Given the description of an element on the screen output the (x, y) to click on. 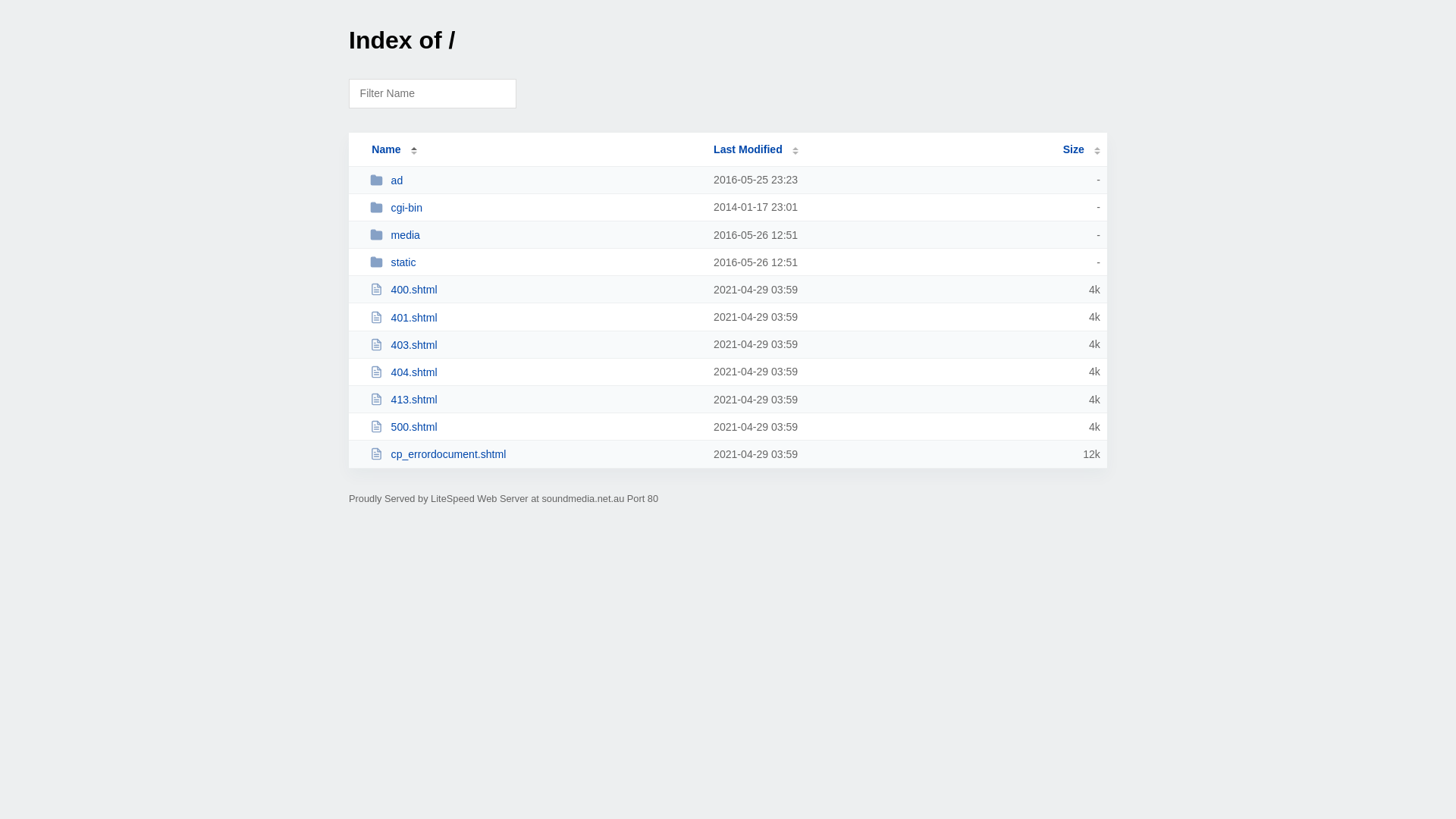
cp_errordocument.shtml Element type: text (534, 453)
413.shtml Element type: text (534, 398)
media Element type: text (534, 234)
403.shtml Element type: text (534, 344)
ad Element type: text (534, 179)
500.shtml Element type: text (534, 426)
401.shtml Element type: text (534, 316)
Size Element type: text (1081, 149)
400.shtml Element type: text (534, 288)
404.shtml Element type: text (534, 371)
cgi-bin Element type: text (534, 206)
static Element type: text (534, 261)
Last Modified Element type: text (755, 149)
Name Element type: text (385, 149)
